Given the description of an element on the screen output the (x, y) to click on. 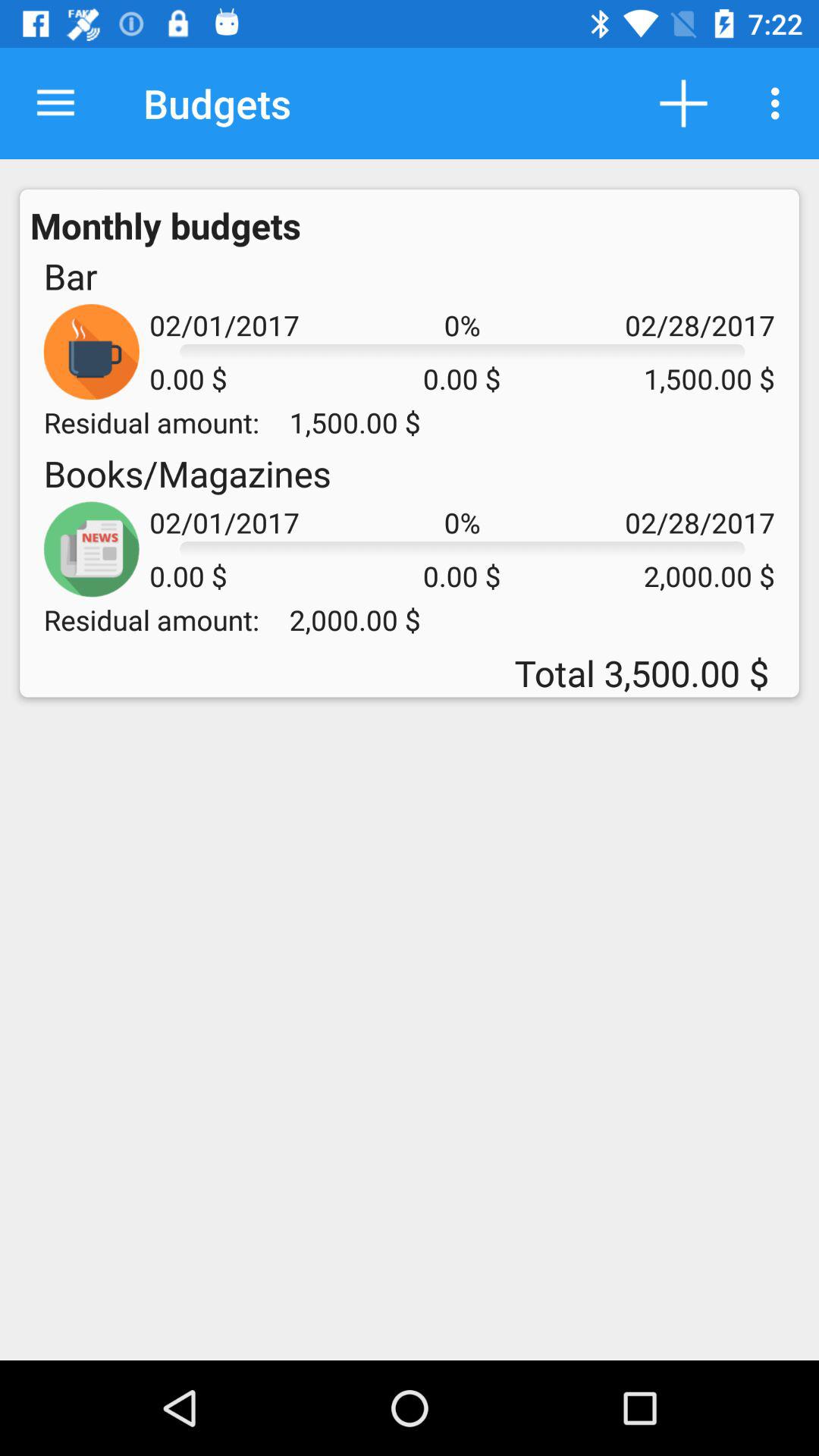
click the icon to the left of 02/01/2017 (70, 275)
